Given the description of an element on the screen output the (x, y) to click on. 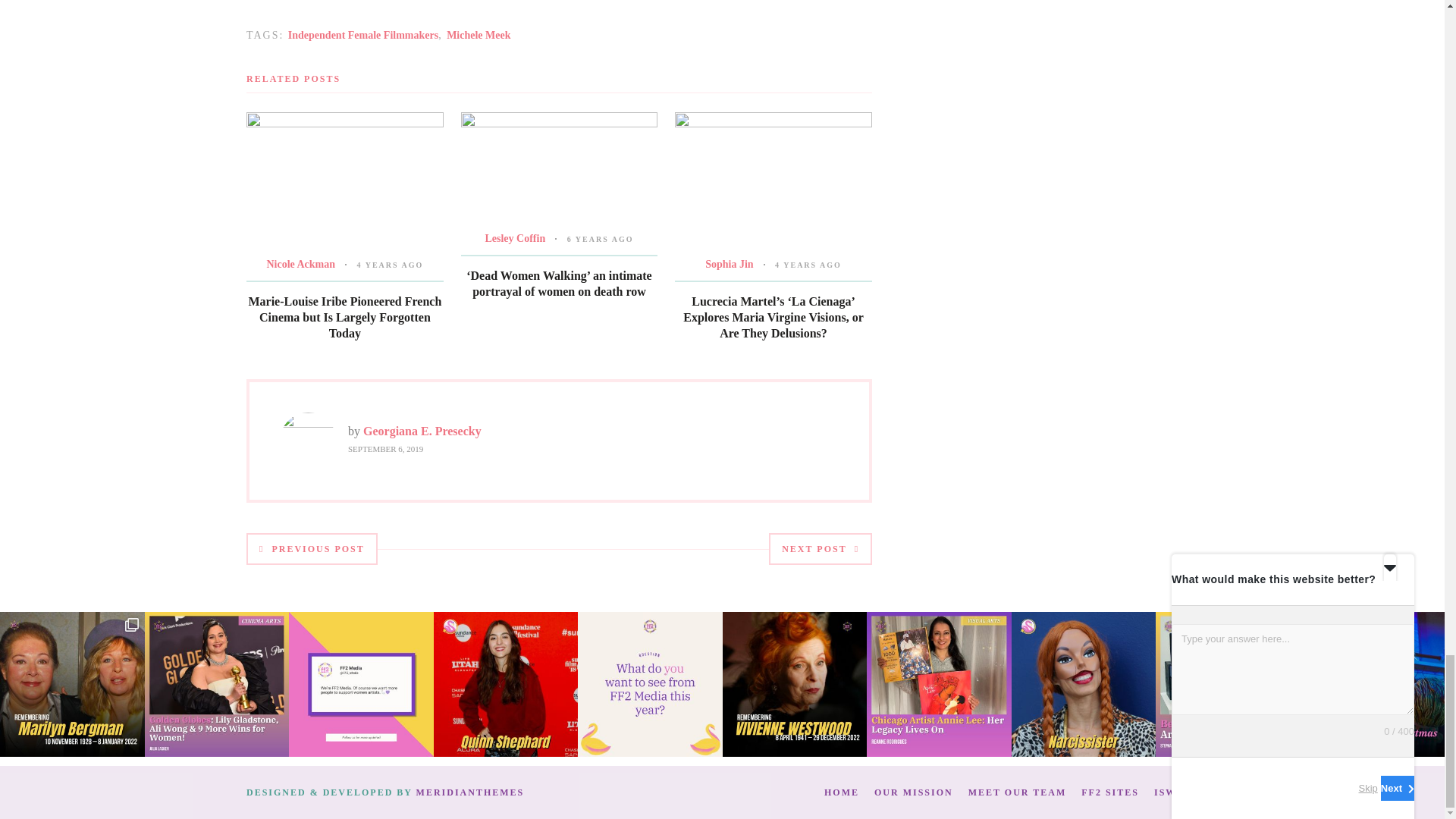
Posts by Nicole Ackman (300, 264)
Posts by Georgiana E. Presecky (421, 431)
Lesley Coffin (514, 238)
Posts by Lesley Coffin (514, 238)
Posts by Sophia Jin (728, 264)
Nicole Ackman (300, 264)
Michele Meek (478, 34)
Independent Female Filmmakers (363, 34)
